Given the description of an element on the screen output the (x, y) to click on. 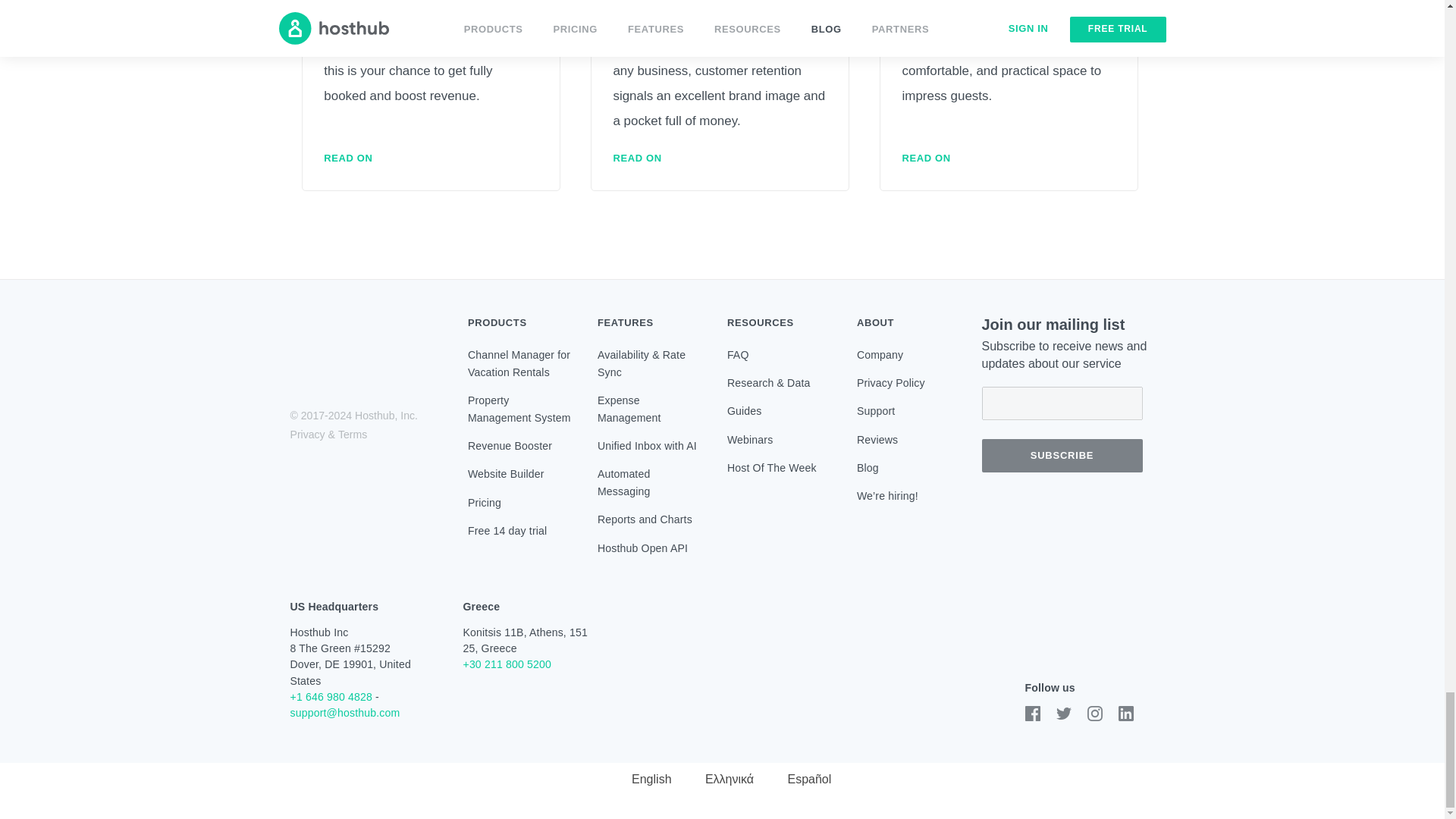
Subscribe (1061, 455)
